Given the description of an element on the screen output the (x, y) to click on. 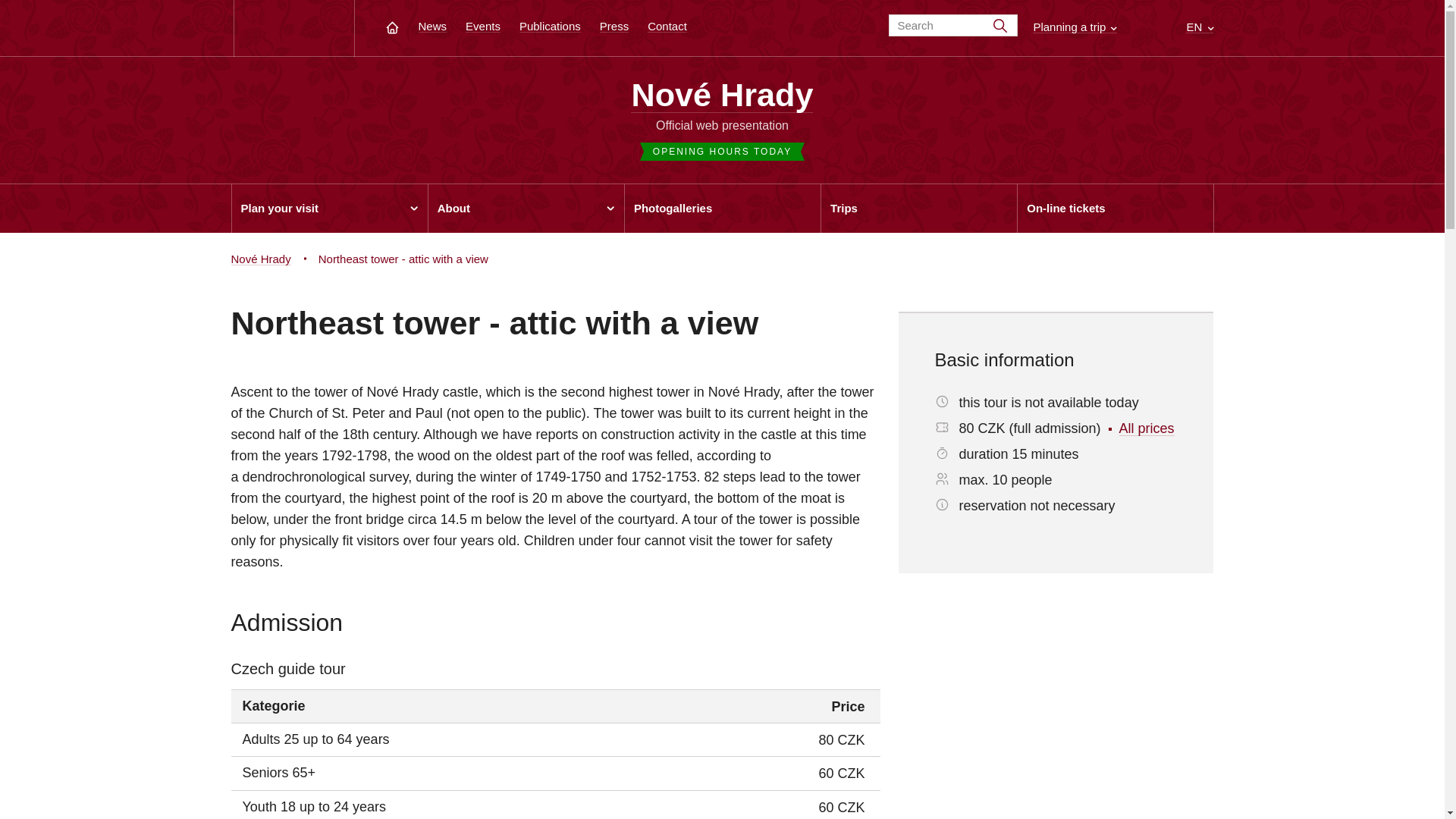
Planning a trip (1074, 26)
4F17A2ED-8B52-4F67-8D80-EE0130BE50BE (941, 427)
Group (941, 504)
On-line tickets (1114, 208)
Publications (549, 25)
Trips (918, 208)
All prices (1146, 427)
EN (1199, 26)
News (432, 25)
OPENING HOURS TODAY (721, 143)
Events (482, 25)
Press (613, 25)
Photogalleries (722, 208)
Contact (667, 25)
